Given the description of an element on the screen output the (x, y) to click on. 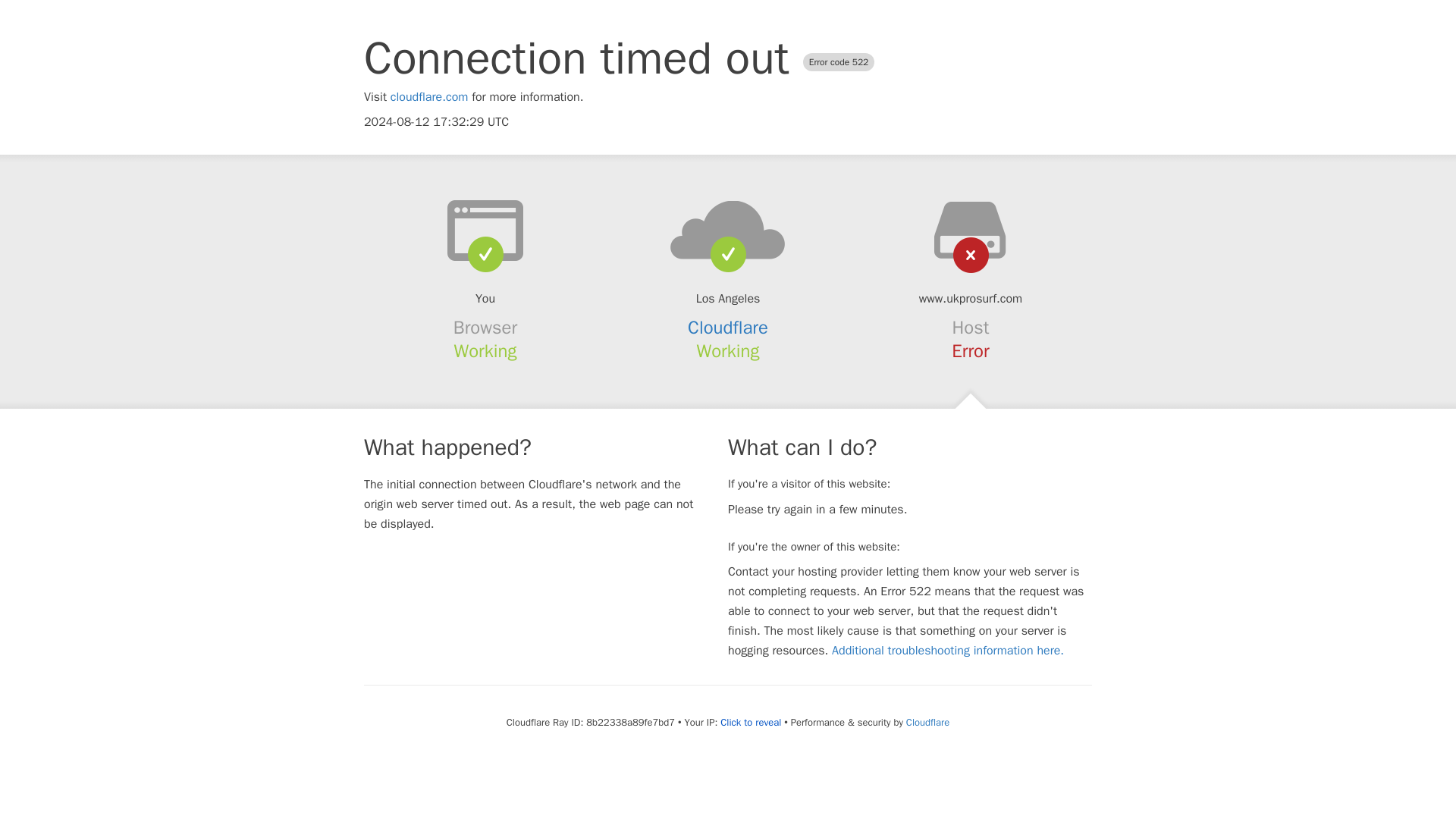
Cloudflare (927, 721)
cloudflare.com (429, 96)
Cloudflare (727, 327)
Additional troubleshooting information here. (947, 650)
Click to reveal (750, 722)
